Given the description of an element on the screen output the (x, y) to click on. 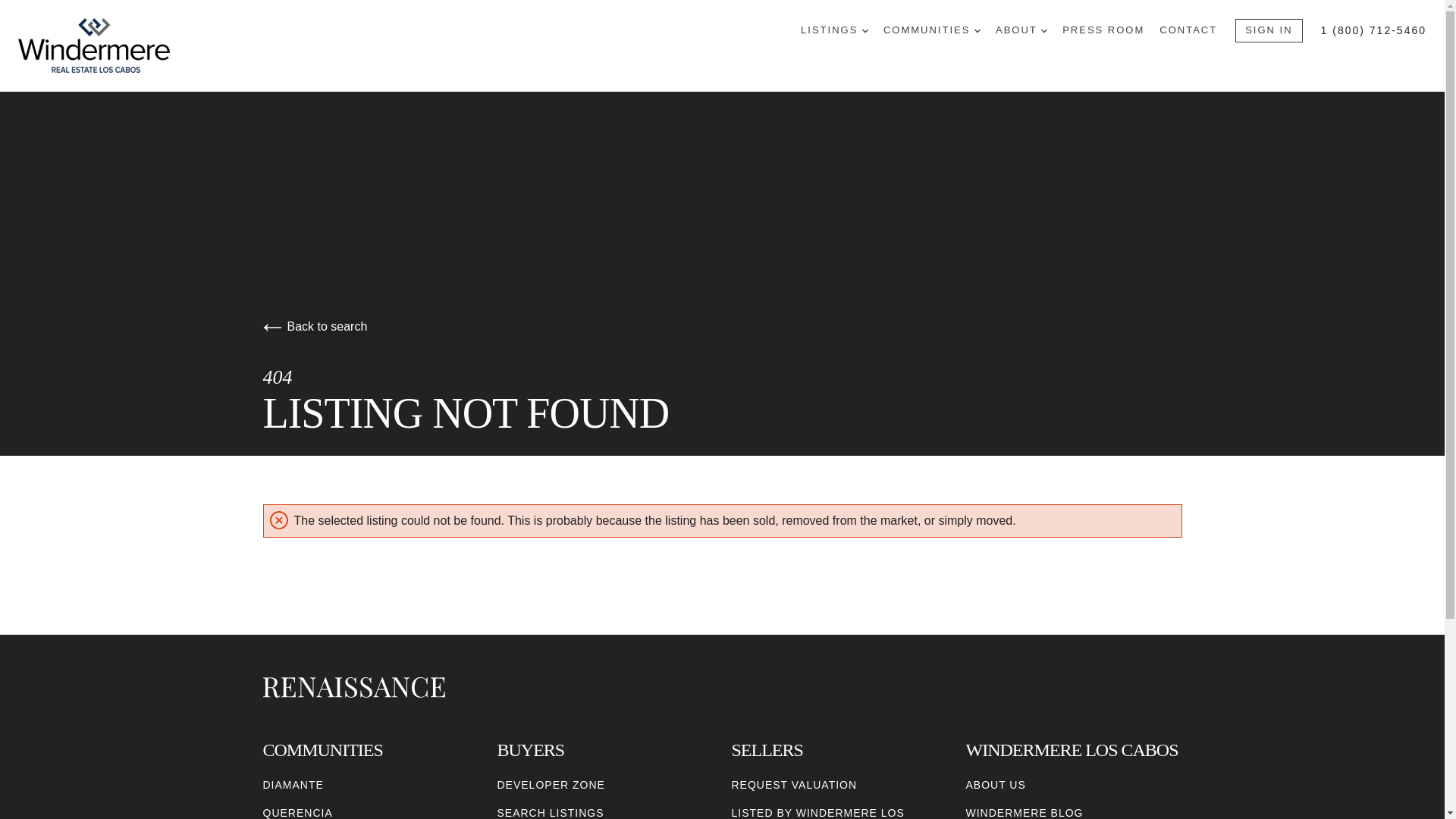
Back to search (314, 326)
DROPDOWN ARROW (1043, 30)
PRESS ROOM (1103, 30)
QUERENCIA (296, 812)
DIAMANTE (292, 785)
COMMUNITIES DROPDOWN ARROW (931, 30)
SIGN IN (1267, 30)
LISTINGS DROPDOWN ARROW (833, 30)
ABOUT DROPDOWN ARROW (1020, 30)
CONTACT (1187, 30)
DROPDOWN ARROW (976, 30)
DROPDOWN ARROW (864, 30)
